Given the description of an element on the screen output the (x, y) to click on. 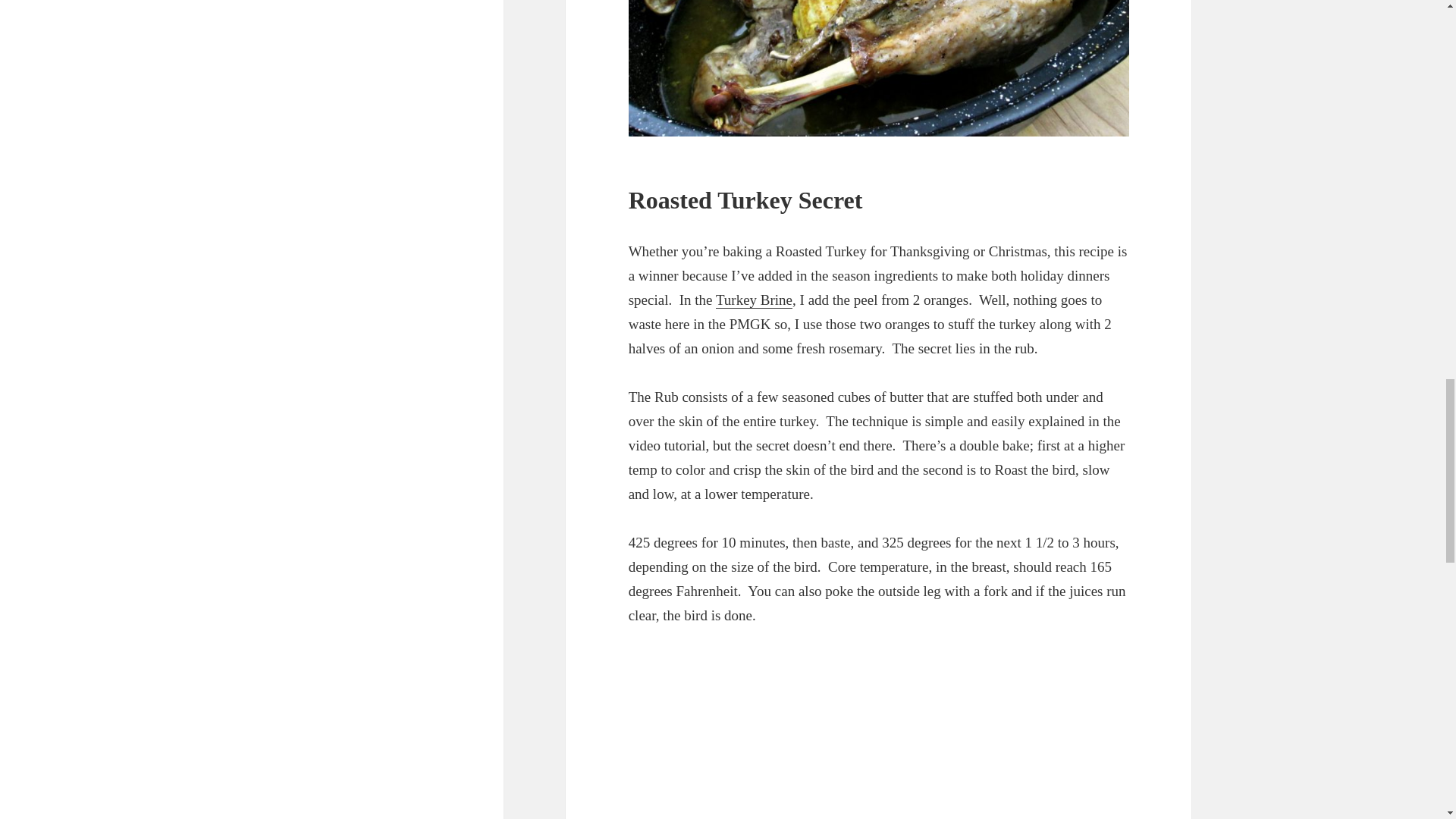
Turkey Brine (754, 299)
